Given the description of an element on the screen output the (x, y) to click on. 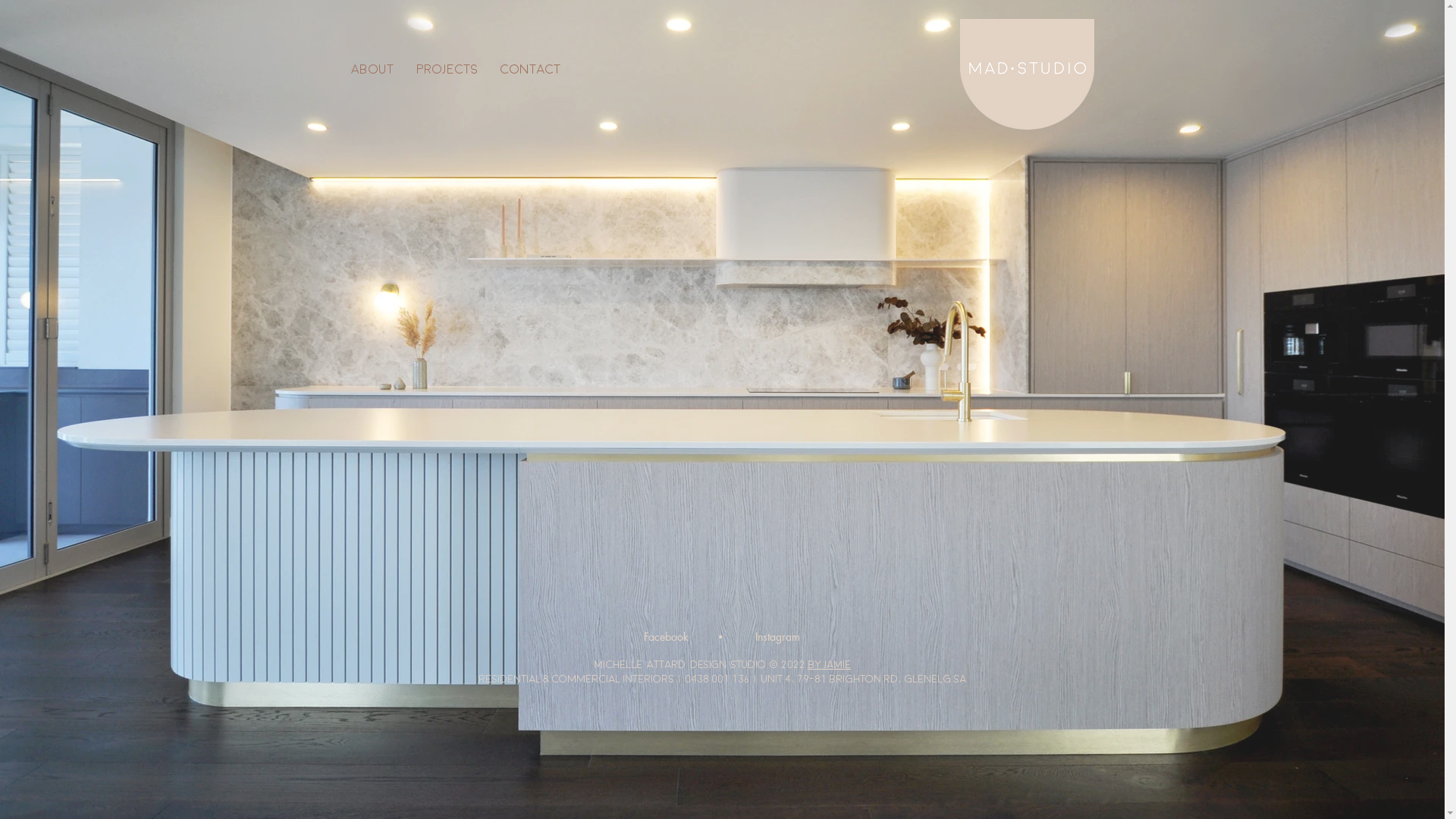
Facebook Element type: text (665, 636)
Projects Element type: text (446, 69)
Contact Element type: text (529, 69)
About Element type: text (371, 69)
Instagram Element type: text (777, 636)
by Jamie Element type: text (828, 664)
